Given the description of an element on the screen output the (x, y) to click on. 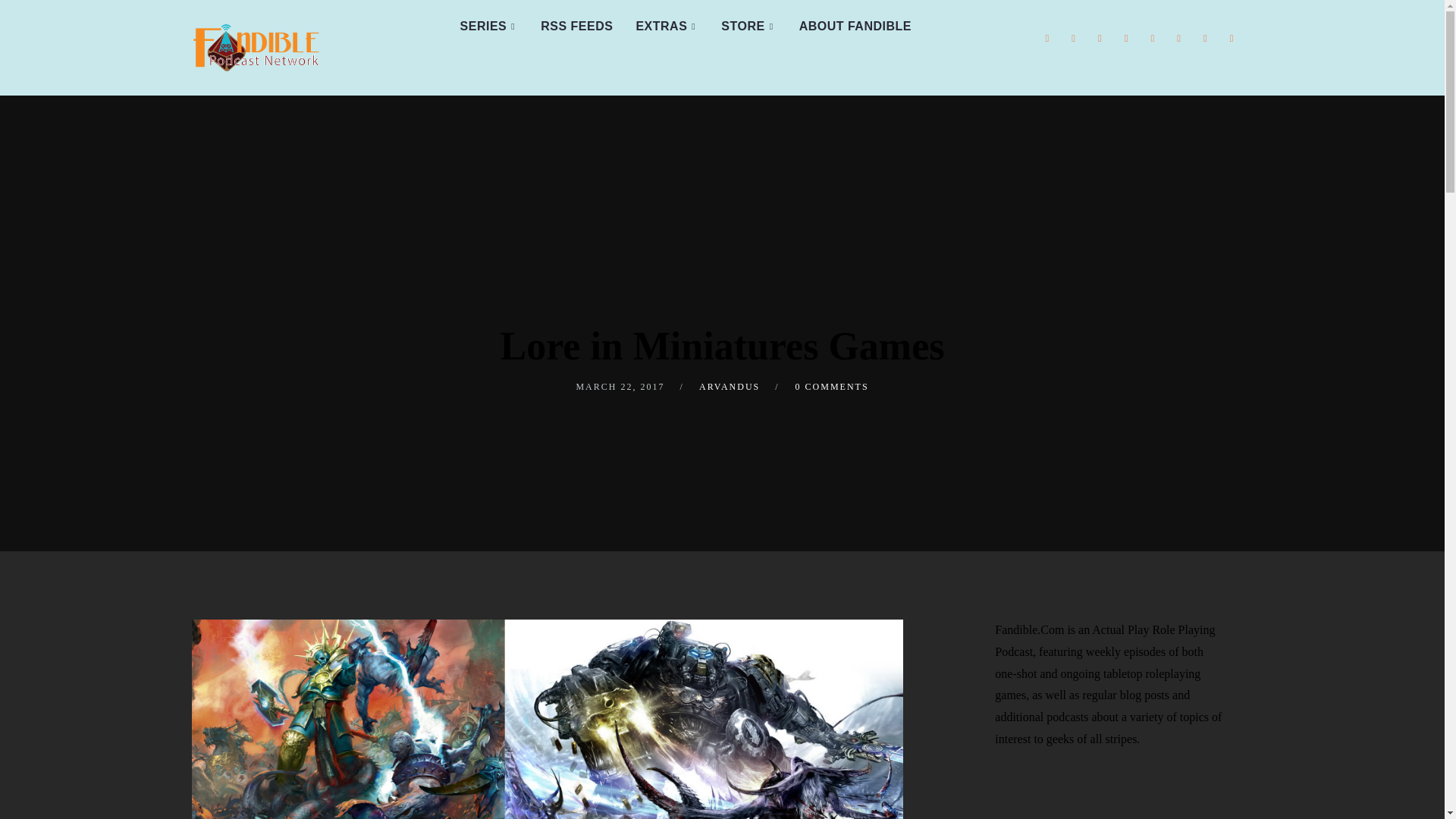
ABOUT FANDIBLE (855, 26)
Fandible Actual Play Podcast (255, 47)
SERIES (488, 26)
EXTRAS (667, 26)
STORE (748, 26)
RSS FEEDS (576, 26)
